Given the description of an element on the screen output the (x, y) to click on. 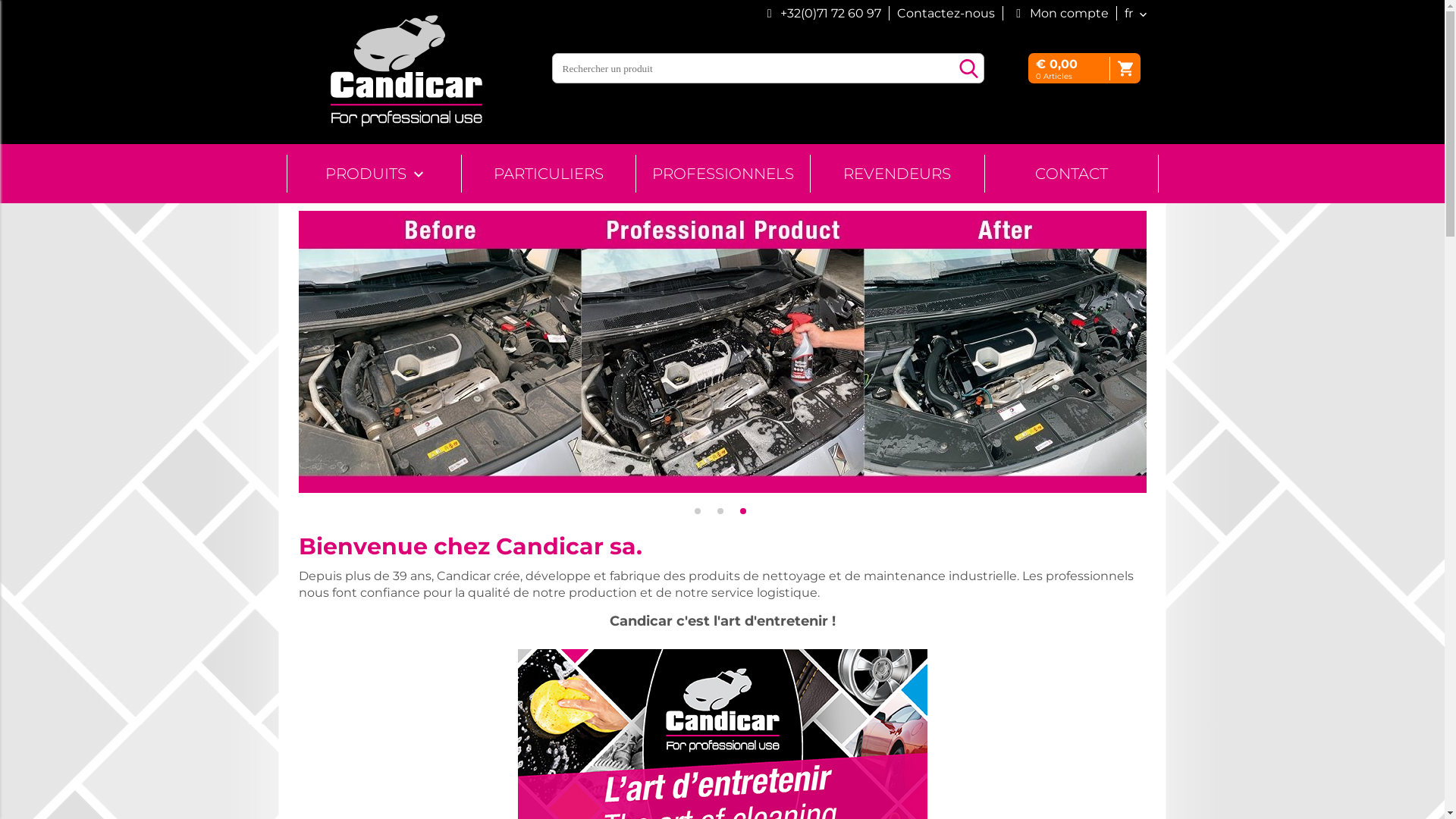
2 Element type: text (720, 511)
PROFESSIONNELS Element type: text (722, 173)
1 Element type: text (697, 511)
PARTICULIERS Element type: text (547, 173)
3 Element type: text (743, 511)
CONTACT Element type: text (1070, 173)
PRODUITS Element type: text (373, 173)
Contactez-nous Element type: text (941, 13)
fr Element type: text (1124, 13)
 Mon compte Element type: text (1055, 13)
+32(0)71 72 60 97 Element type: text (830, 13)
REVENDEURS Element type: text (896, 173)
